Given the description of an element on the screen output the (x, y) to click on. 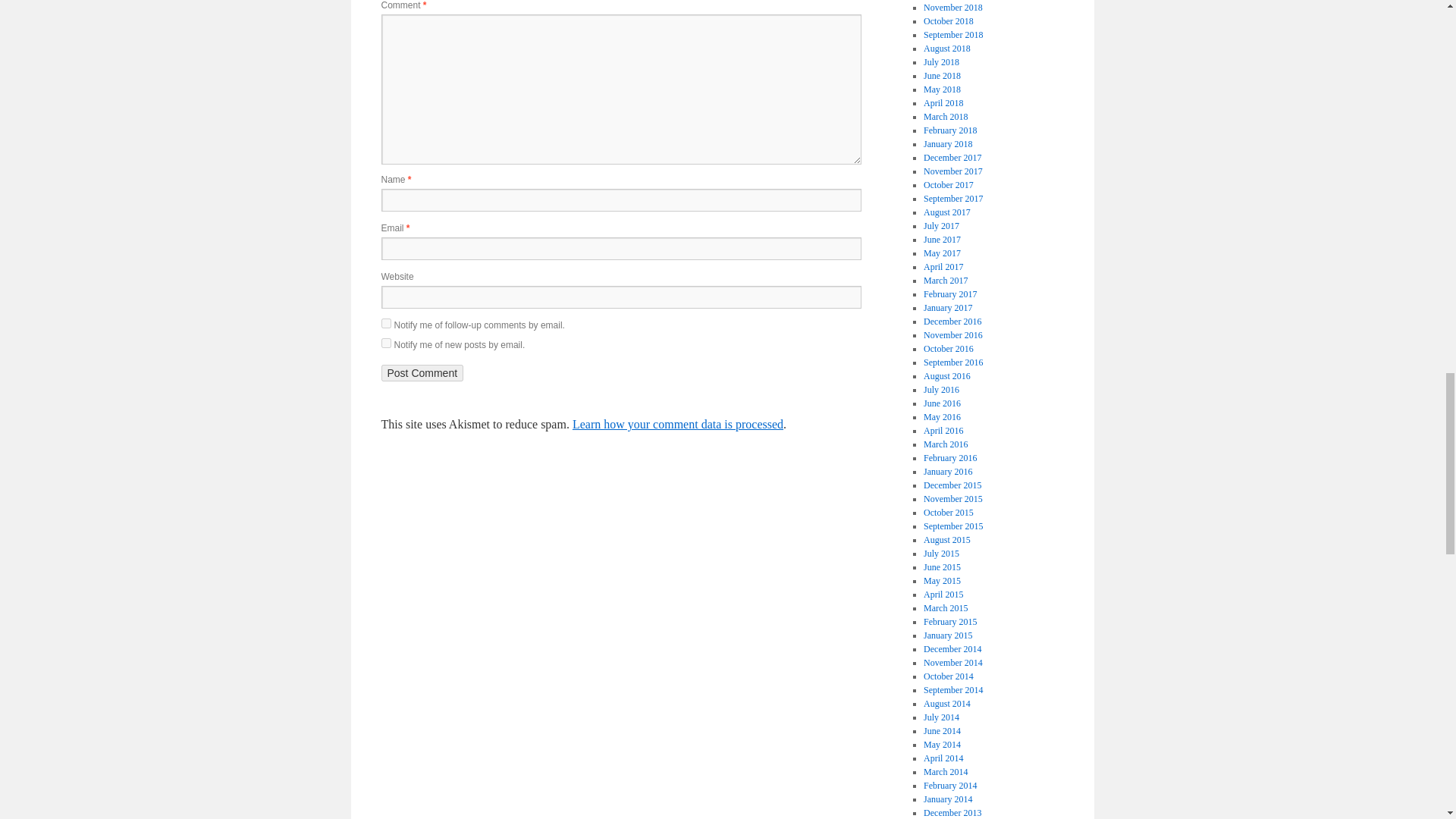
subscribe (385, 323)
Post Comment (421, 372)
subscribe (385, 343)
